Given the description of an element on the screen output the (x, y) to click on. 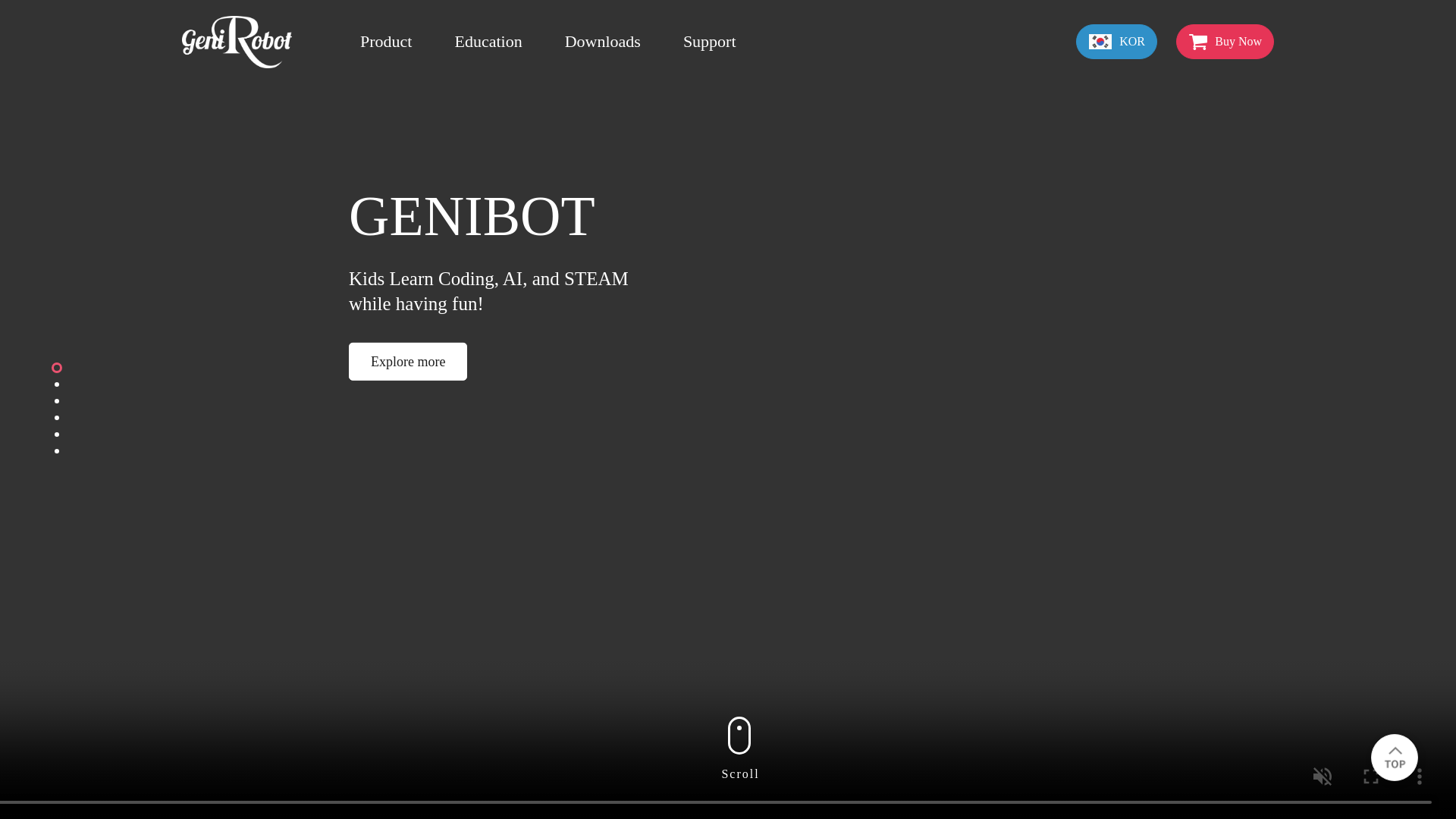
Explore more (408, 361)
Explore more (408, 361)
KOR (1116, 41)
Buy Now (1225, 41)
Dabida (237, 41)
GeniRobot Store (1225, 41)
Product (385, 40)
Support (709, 40)
Downloads (602, 40)
Education (487, 40)
